Given the description of an element on the screen output the (x, y) to click on. 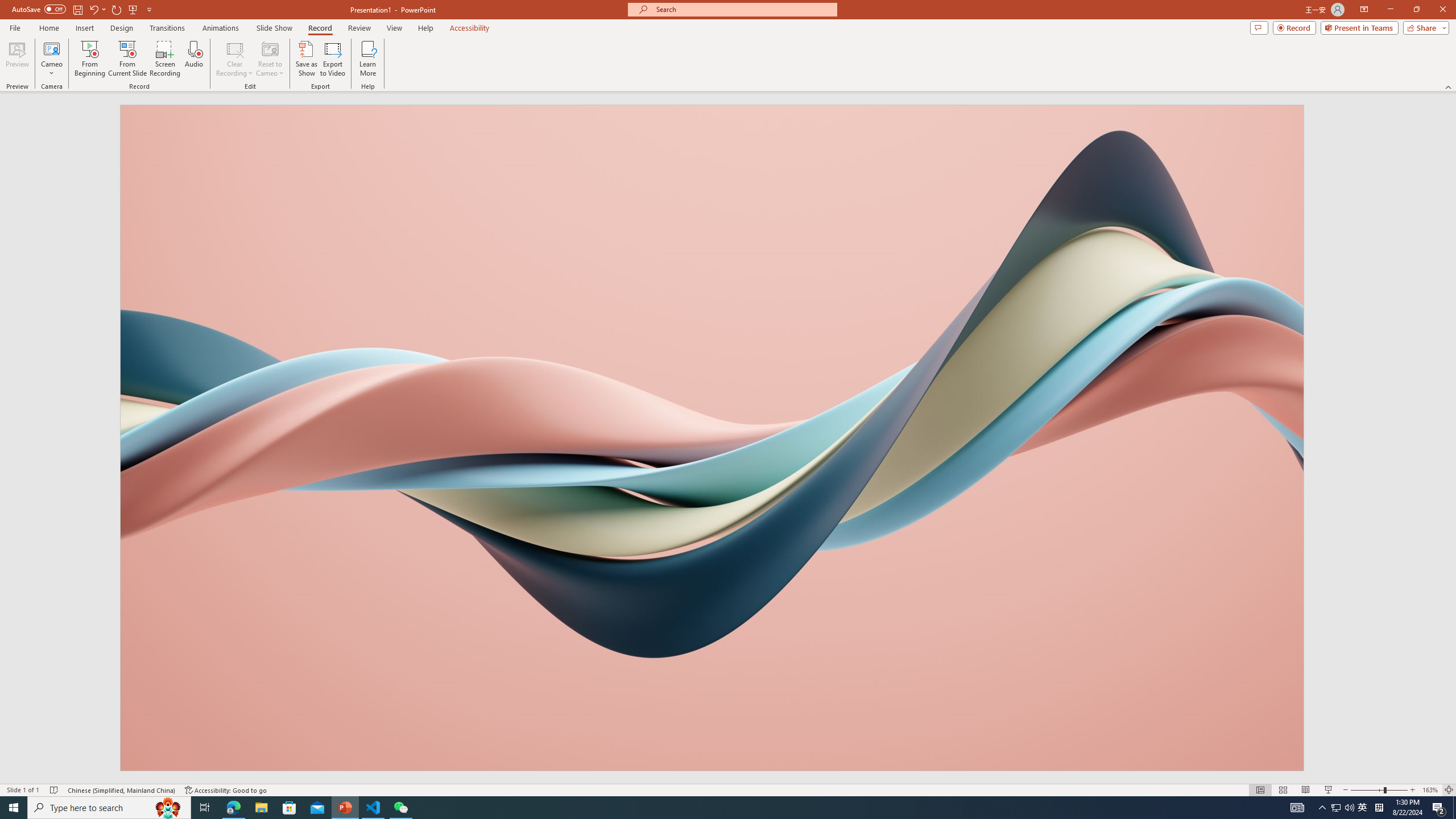
Zoom 163% (1430, 790)
Clear Recording (234, 58)
From Current Slide... (127, 58)
